Given the description of an element on the screen output the (x, y) to click on. 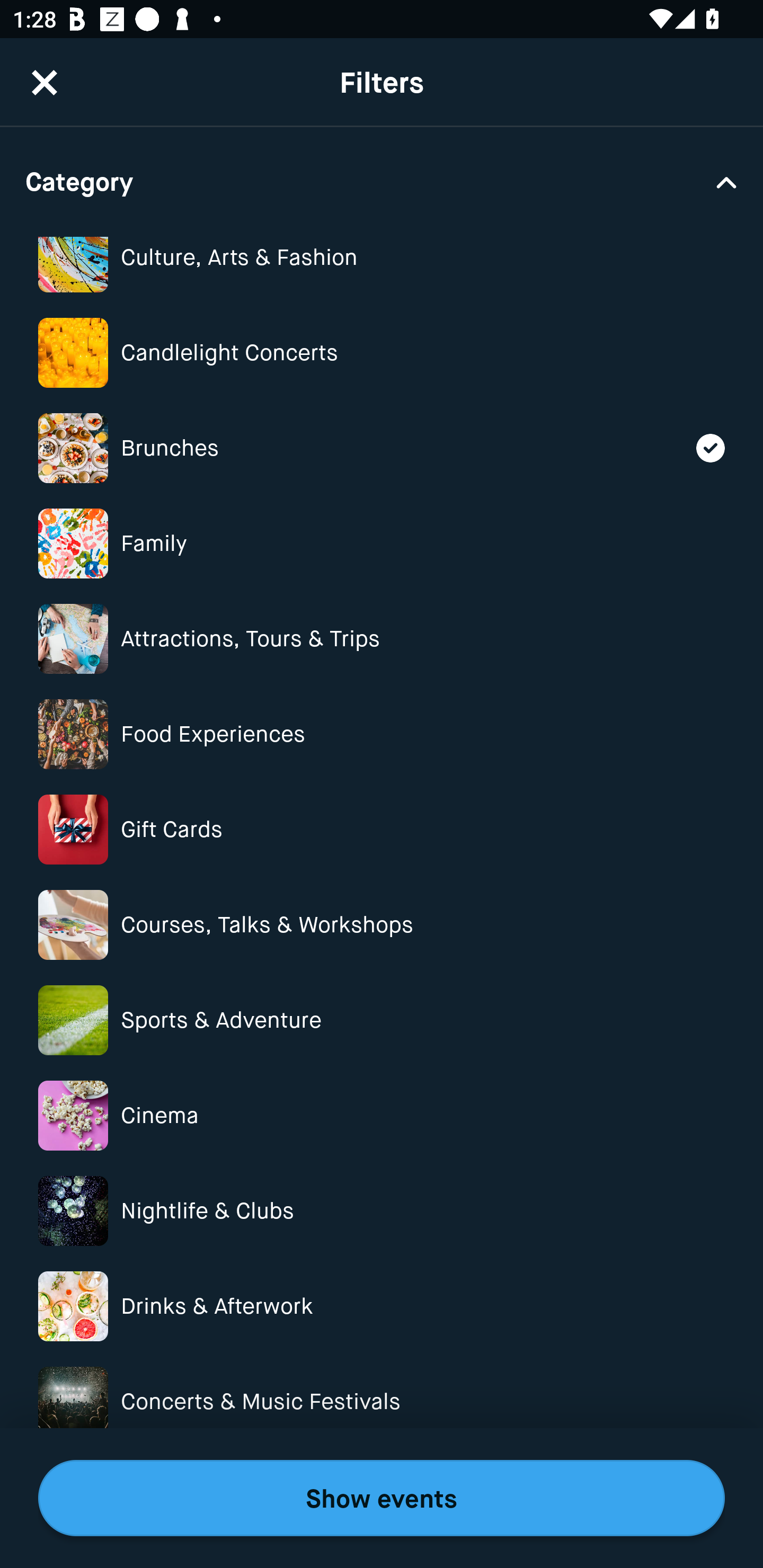
CloseButton (44, 80)
Category Image Culture, Arts & Fashion (381, 266)
Category Image Candlelight Concerts (381, 352)
Category Image Brunches Selected Icon (381, 447)
Category Image Family (381, 542)
Category Image Attractions, Tours & Trips (381, 638)
Category Image Food Experiences (381, 734)
Category Image Gift Cards (381, 829)
Category Image Courses, Talks & Workshops (381, 924)
Category Image Sports & Adventure (381, 1019)
Category Image Cinema (381, 1115)
Category Image Nightlife & Clubs (381, 1210)
Category Image Drinks & Afterwork (381, 1305)
Category Image Concerts & Music Festivals (381, 1401)
